Given the description of an element on the screen output the (x, y) to click on. 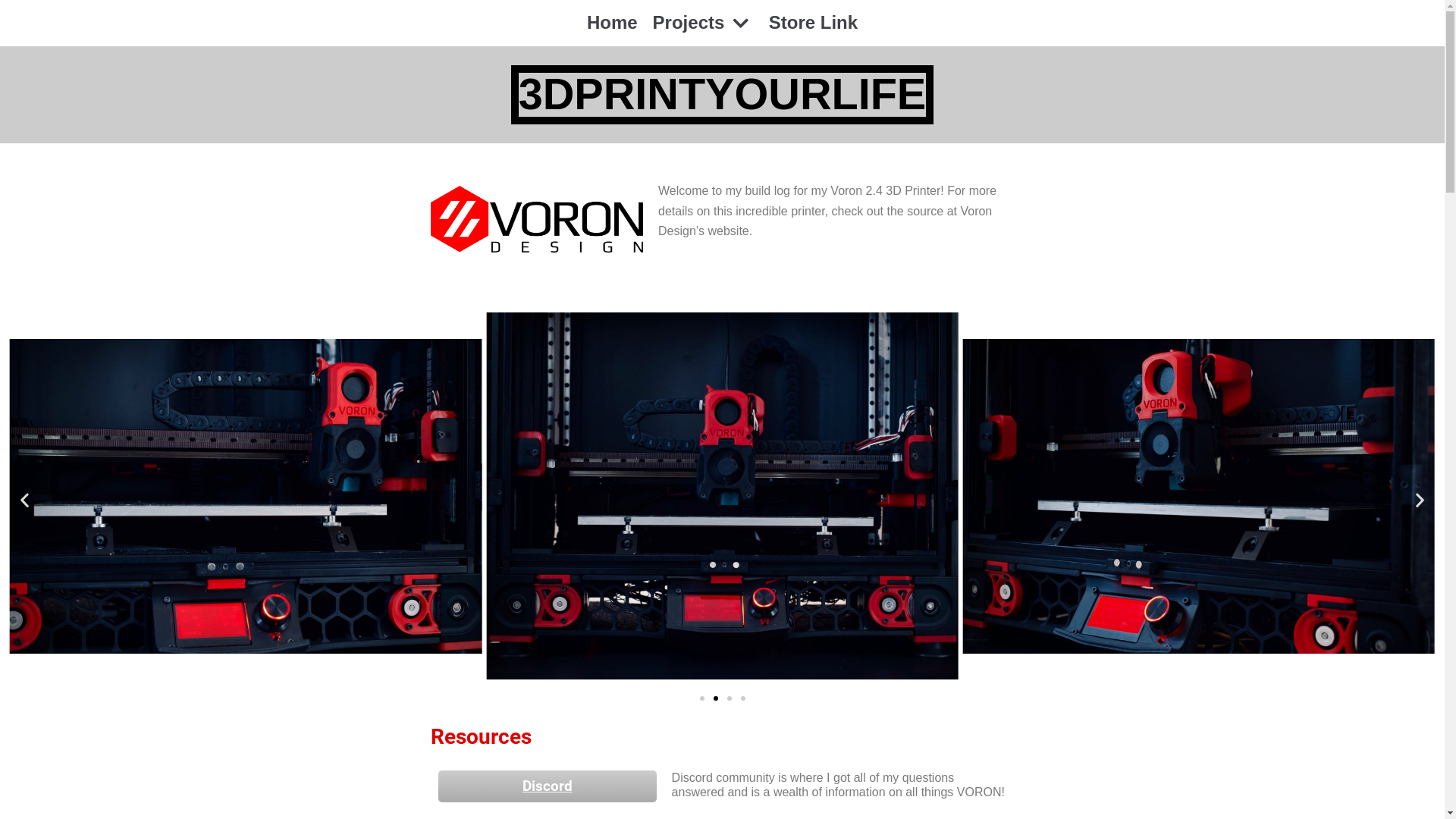
Discord Element type: text (547, 786)
Skip to content Element type: text (15, 7)
Home Element type: text (611, 22)
Projects Element type: text (702, 22)
Store Link Element type: text (812, 22)
